Given the description of an element on the screen output the (x, y) to click on. 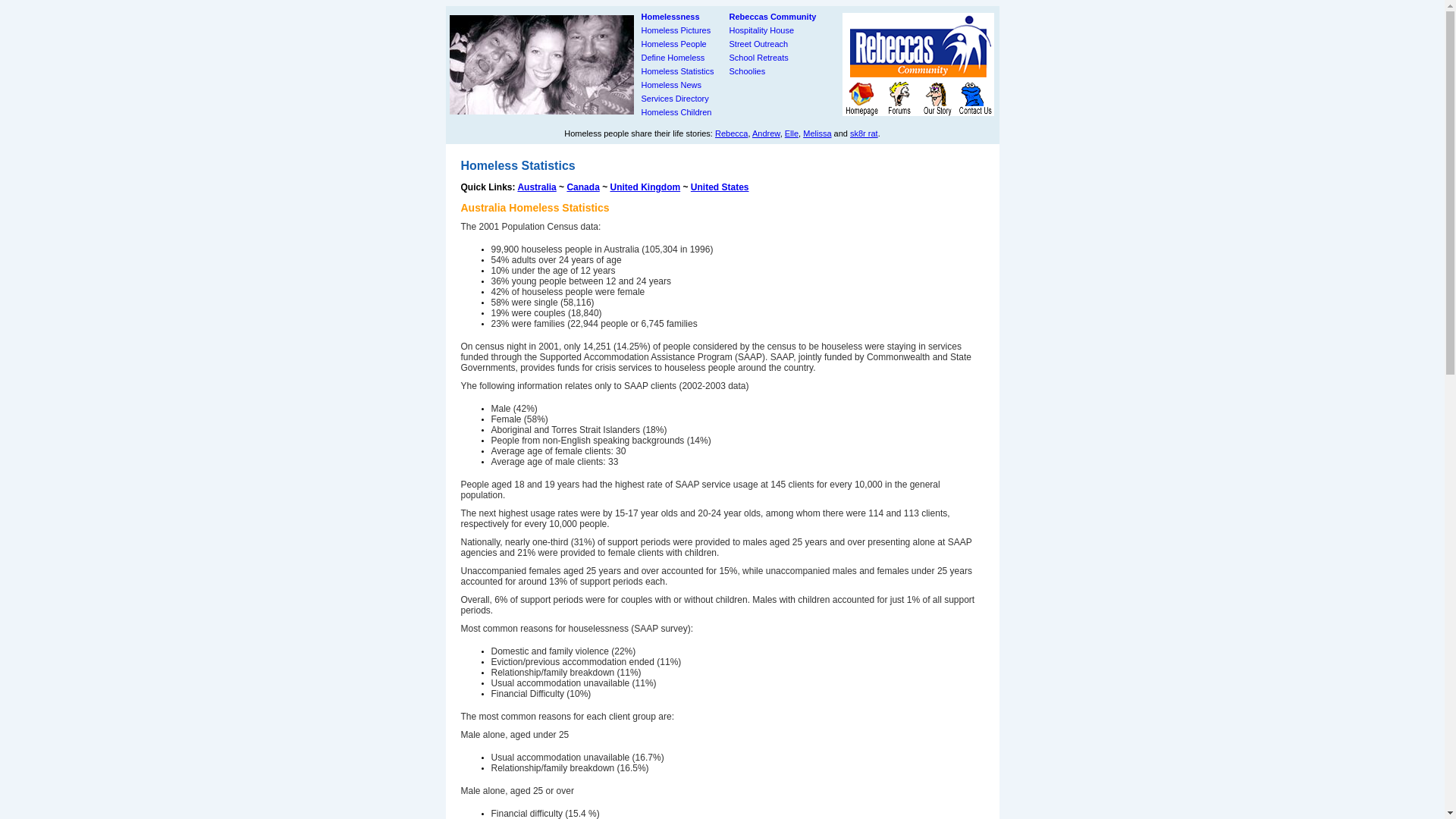
School Retreats Element type: text (758, 57)
Australia Homeless Statistics Element type: text (535, 207)
Australia Element type: text (536, 187)
Melissa Element type: text (817, 133)
Homeless Statistics Element type: text (677, 70)
Homelessness Element type: text (670, 16)
Schoolies Element type: text (747, 70)
United Kingdom Element type: text (644, 187)
Homeless Children Element type: text (676, 111)
sk8r rat Element type: text (864, 133)
Street Outreach Element type: text (758, 43)
Define Homeless Element type: text (673, 57)
Homeless News Element type: text (671, 84)
Homeless Pictures Element type: text (676, 29)
Rebecca Element type: text (731, 133)
Homeless People Element type: text (673, 43)
Andrew Element type: text (766, 133)
Rebeccas Community Element type: text (772, 16)
Services Directory Element type: text (675, 98)
Canada Element type: text (582, 187)
Elle Element type: text (791, 133)
Hospitality House Element type: text (761, 29)
United States Element type: text (719, 187)
